Given the description of an element on the screen output the (x, y) to click on. 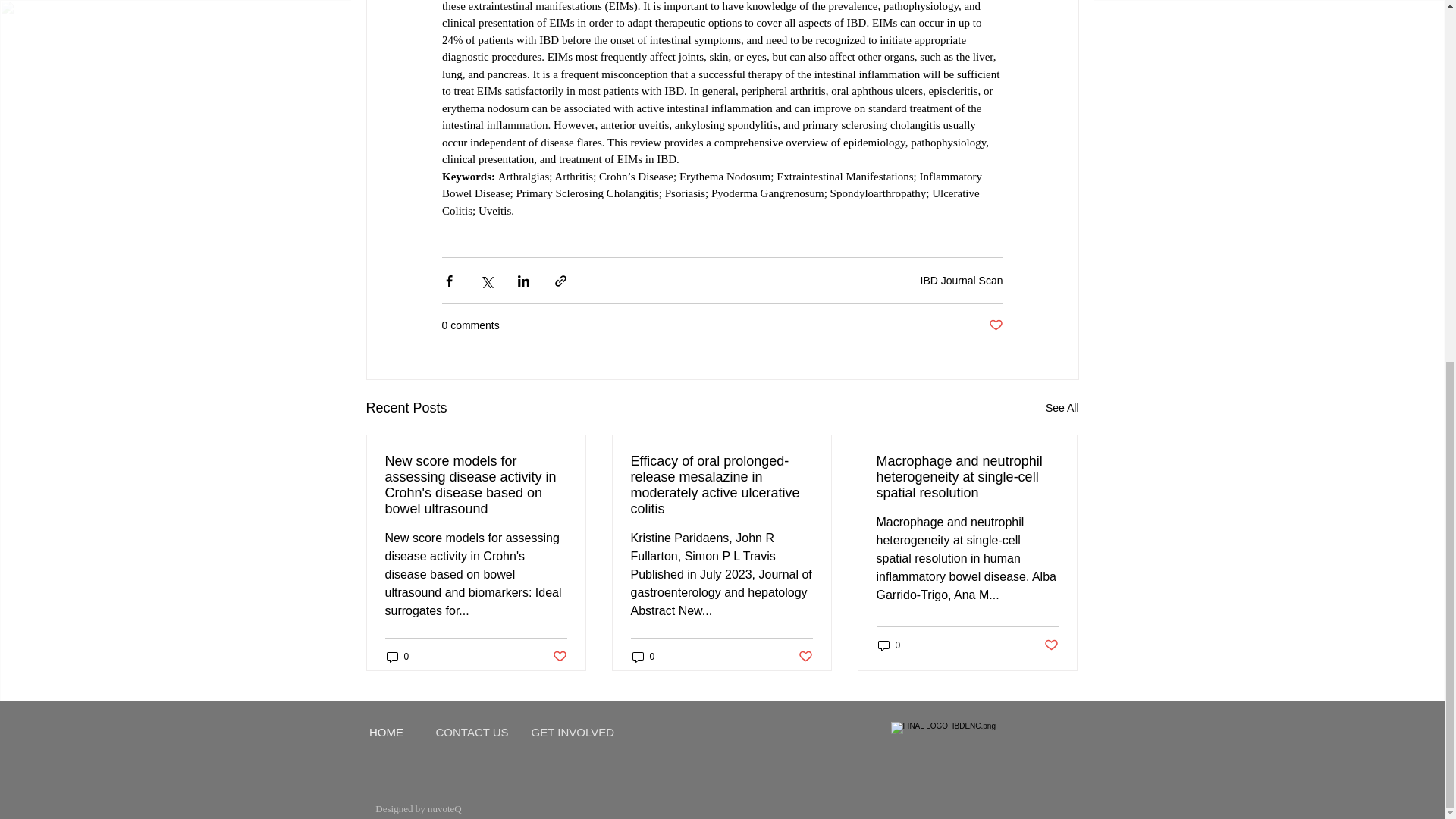
Post not marked as liked (995, 325)
GET INVOLVED (571, 731)
IBD Journal Scan (961, 280)
0 (643, 656)
Post not marked as liked (804, 657)
0 (889, 645)
0 (397, 656)
See All (1061, 408)
